Given the description of an element on the screen output the (x, y) to click on. 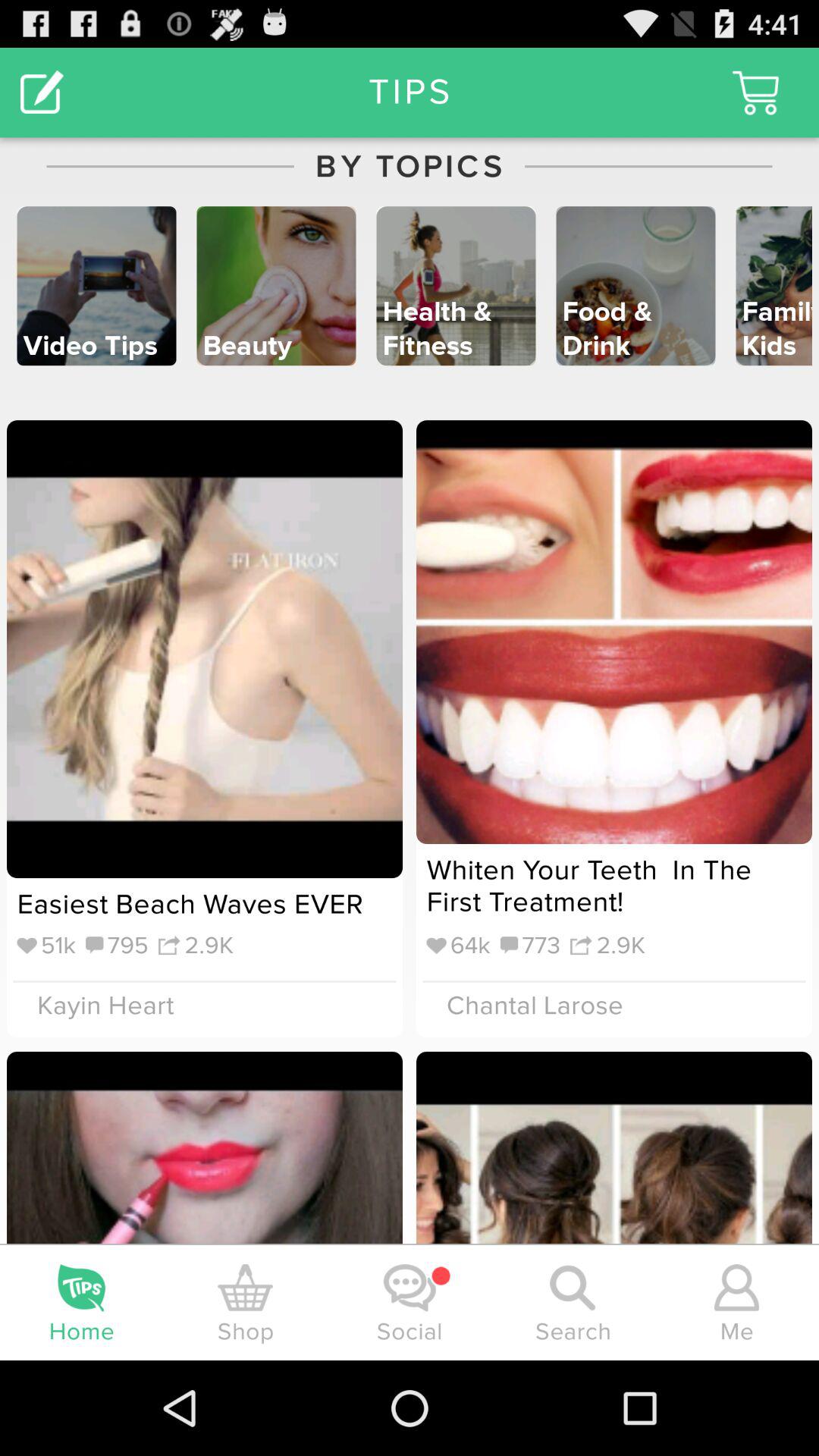
edit button (42, 92)
